Given the description of an element on the screen output the (x, y) to click on. 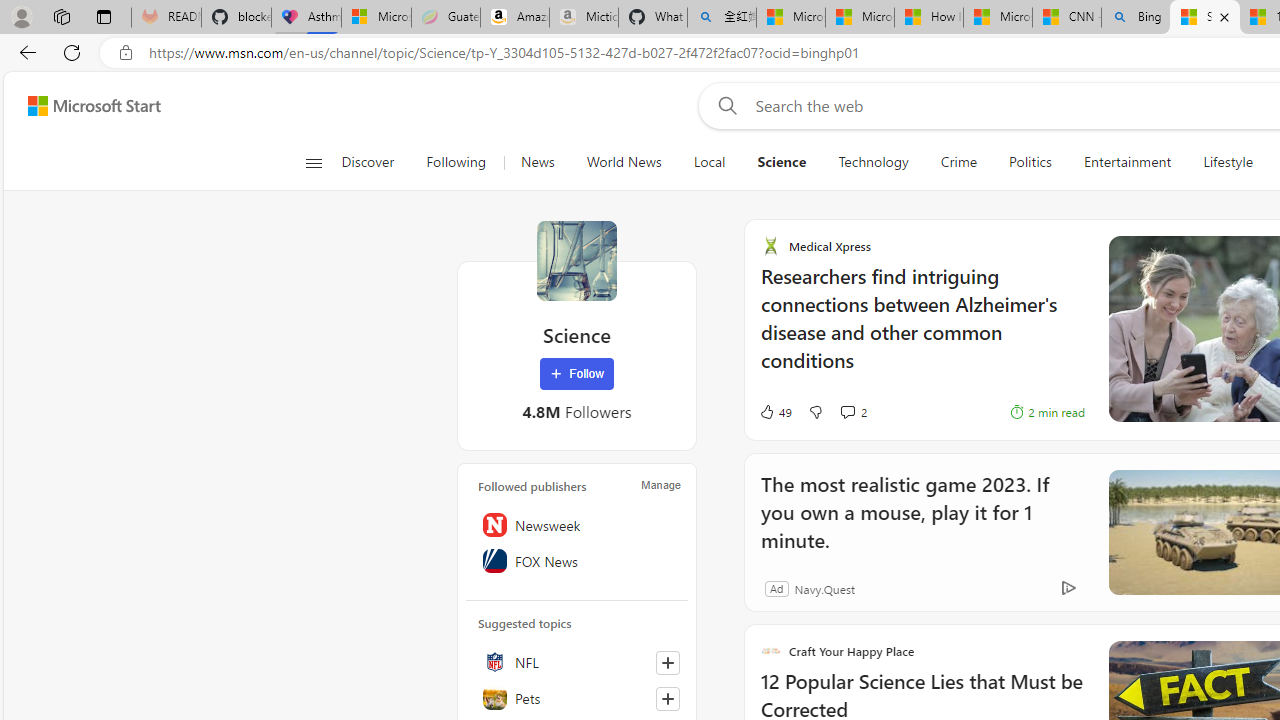
Skip to content (86, 105)
Science (576, 260)
Entertainment (1127, 162)
Crime (959, 162)
Politics (1030, 162)
View comments 2 Comment (830, 412)
Skip to footer (82, 105)
